Given the description of an element on the screen output the (x, y) to click on. 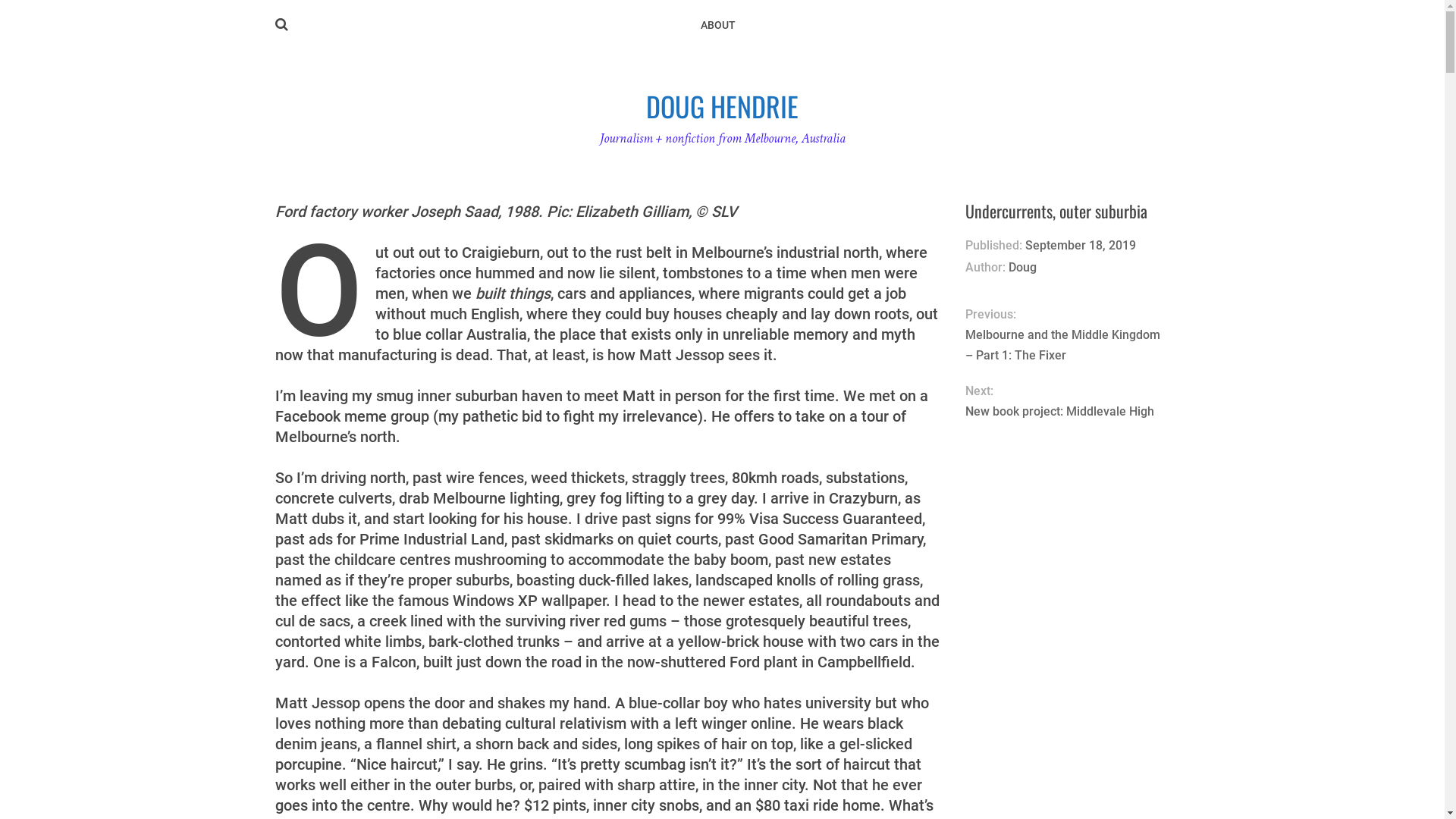
New book project: Middlevale High Element type: text (1067, 411)
DOUG HENDRIE Element type: text (722, 104)
Doug Element type: text (1022, 267)
ABOUT Element type: text (717, 25)
